Given the description of an element on the screen output the (x, y) to click on. 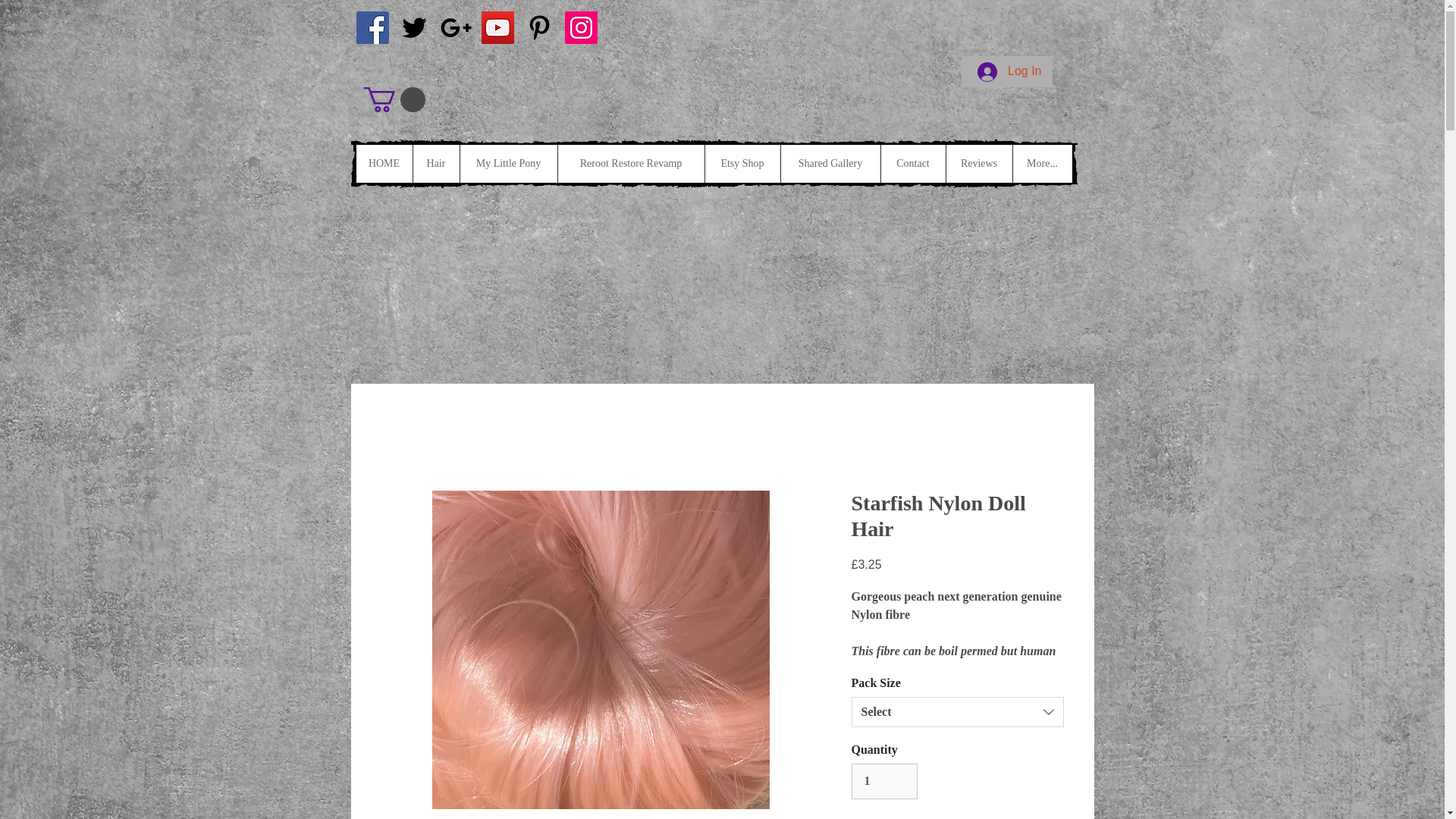
Hair (436, 163)
HOME (384, 163)
Reroot Restore Revamp (629, 163)
Contact (911, 163)
1 (883, 780)
Shared Gallery (828, 163)
Select (956, 711)
Log In (1008, 71)
My Little Pony (508, 163)
Reviews (977, 163)
Etsy Shop (740, 163)
